Given the description of an element on the screen output the (x, y) to click on. 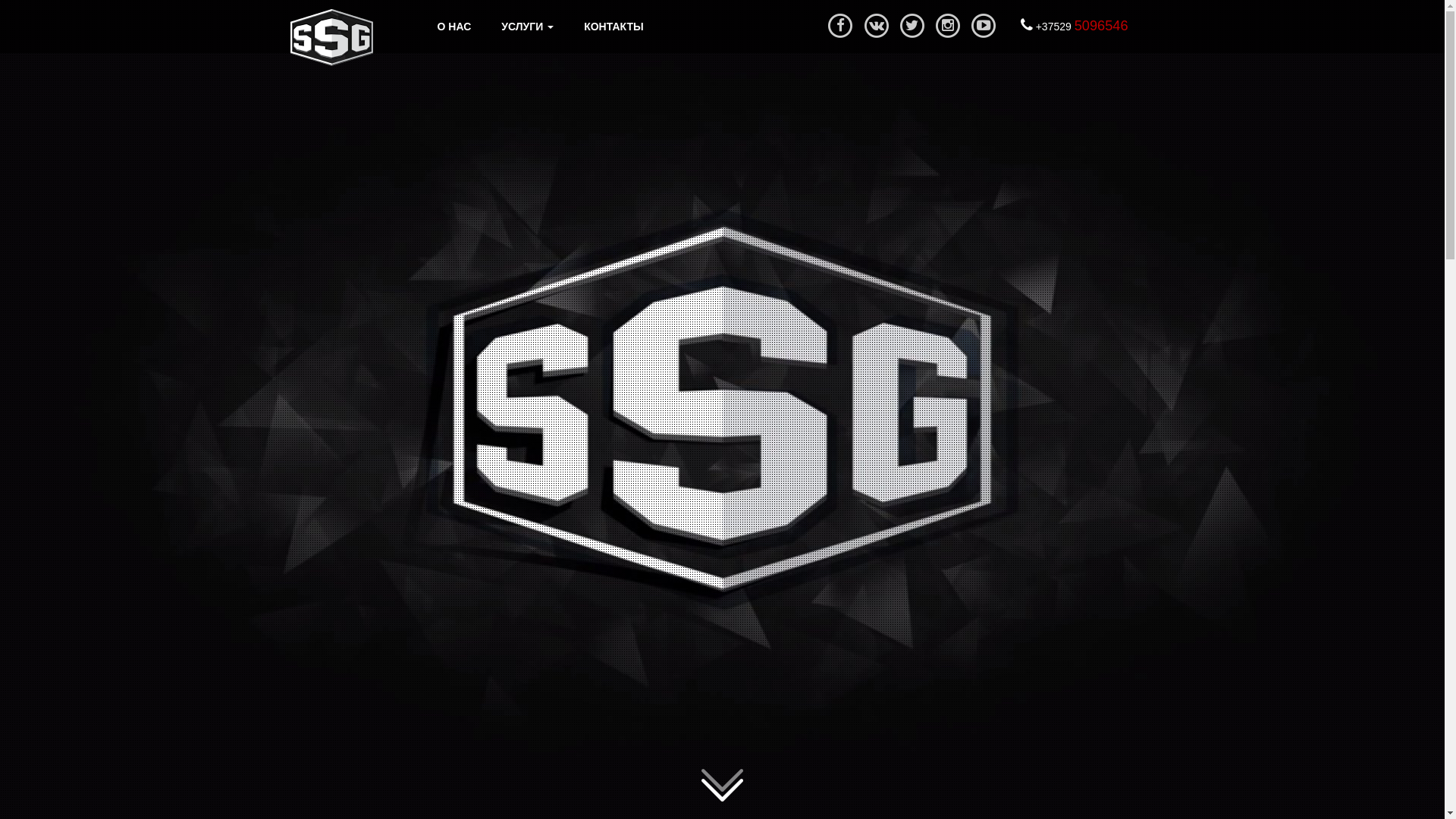
+37529 5096546 Element type: text (1074, 26)
